Given the description of an element on the screen output the (x, y) to click on. 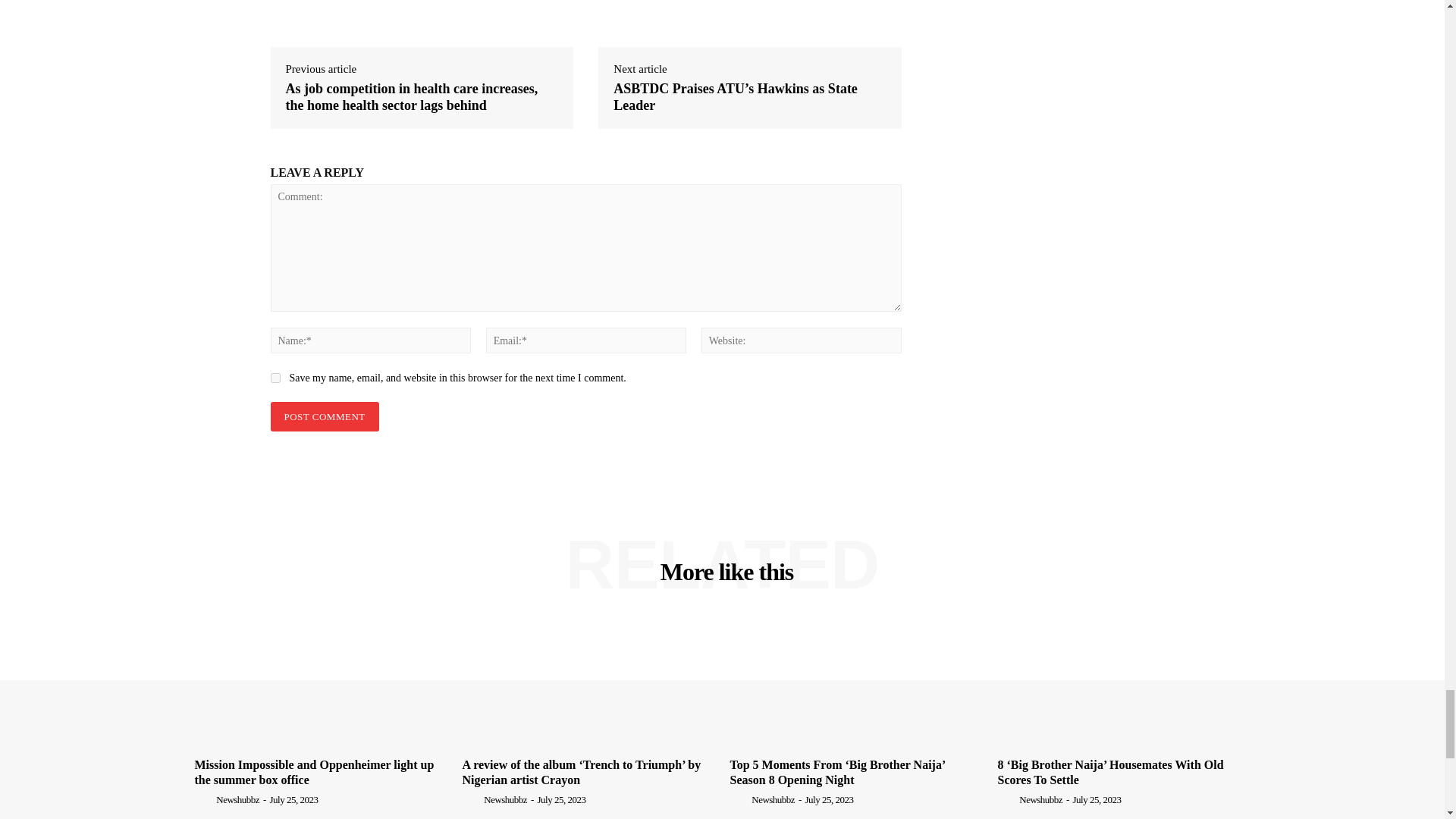
yes (274, 378)
Post Comment (323, 416)
